Given the description of an element on the screen output the (x, y) to click on. 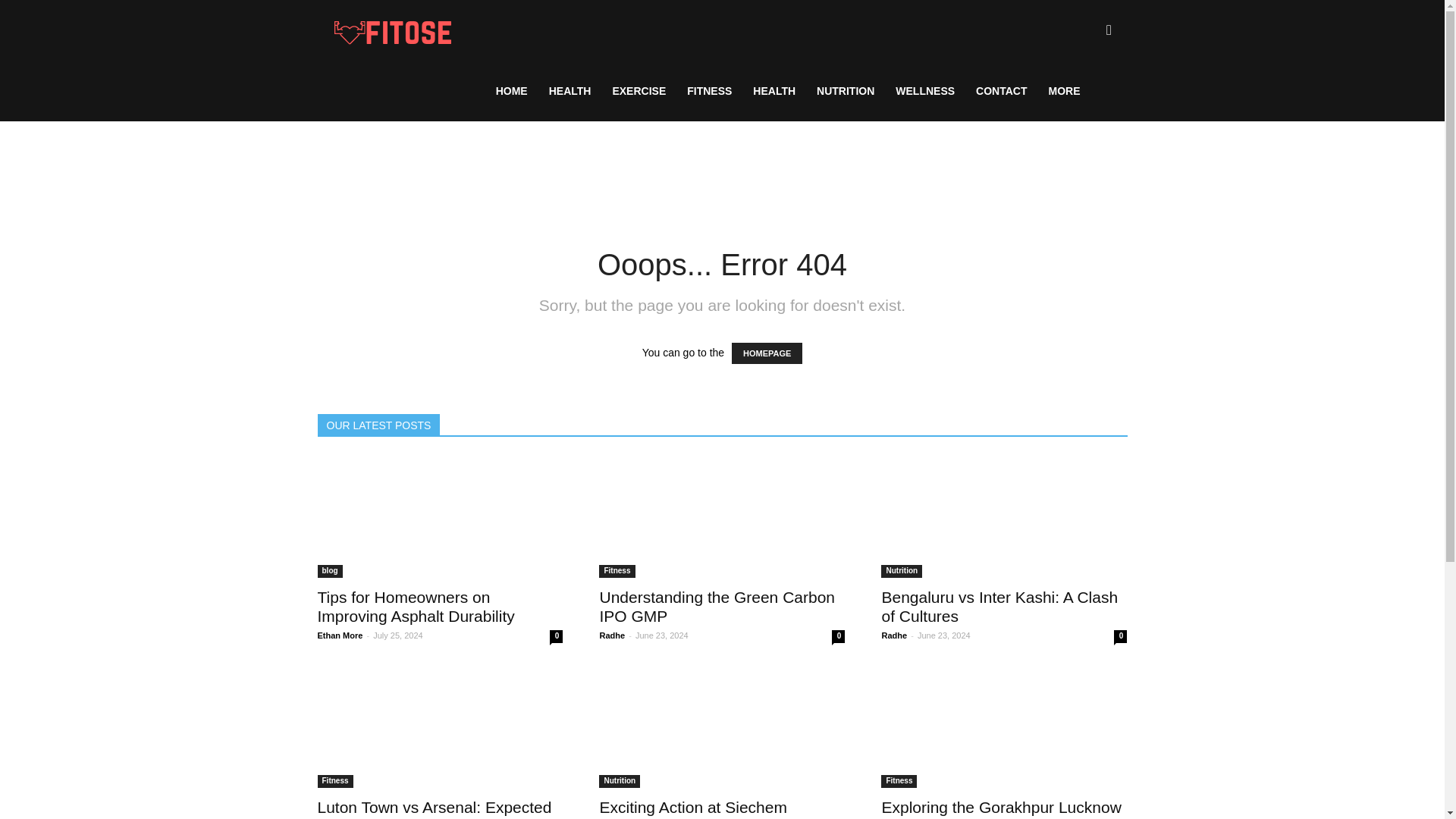
Search (1085, 102)
FITOSE (392, 30)
